Given the description of an element on the screen output the (x, y) to click on. 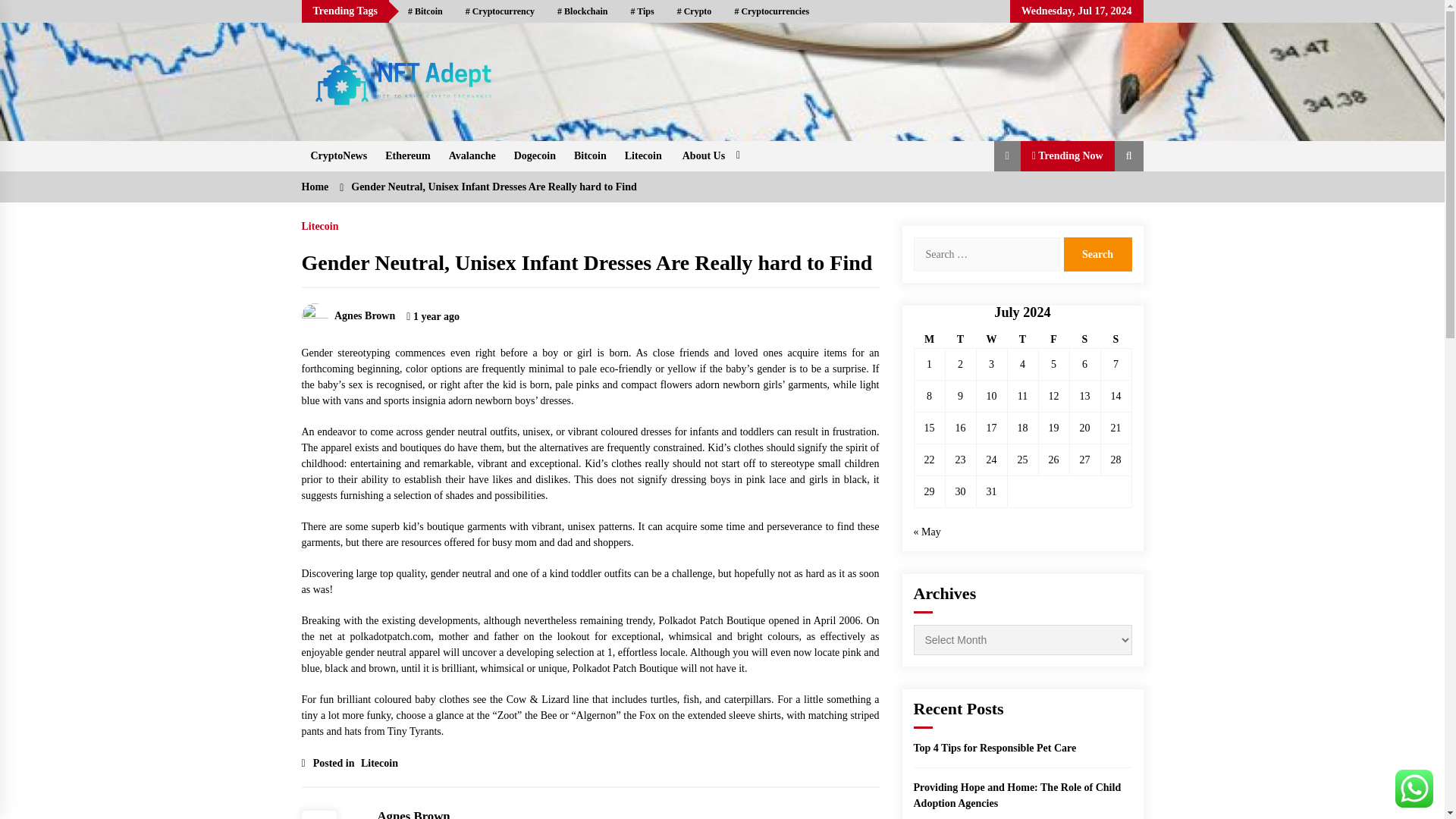
Tuesday (959, 339)
Cryptocurrency (500, 11)
Sunday (1115, 339)
Blockchain (582, 11)
Ethereum (407, 155)
Search (1096, 254)
Bitcoin (425, 11)
About Us (709, 155)
Litecoin (643, 155)
Dogecoin (534, 155)
Bitcoin (589, 155)
Wednesday (991, 339)
Monday (929, 339)
Tips (641, 11)
Thursday (1022, 339)
